Given the description of an element on the screen output the (x, y) to click on. 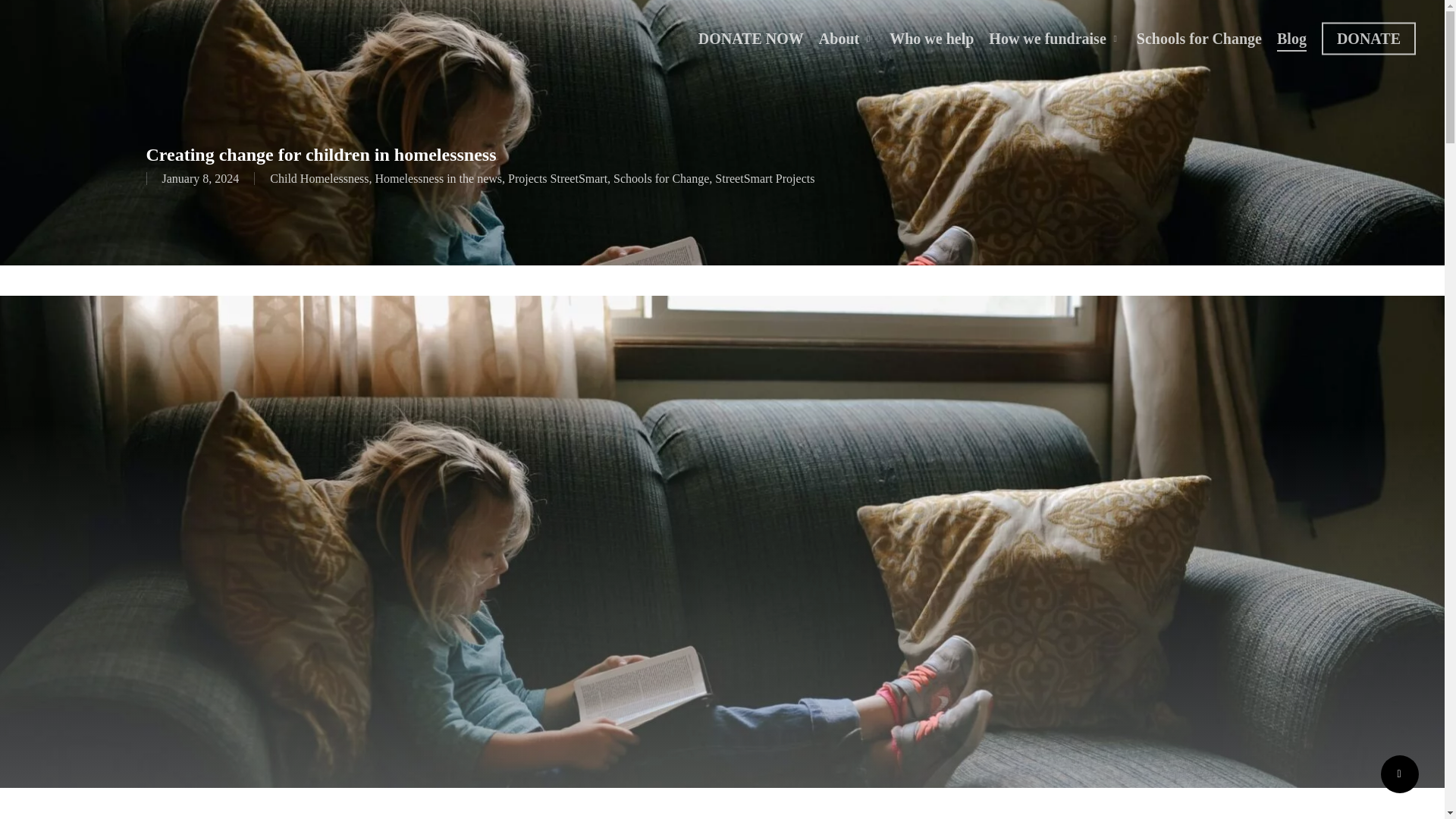
Blog (1291, 37)
Schools for Change (1199, 37)
StreetSmart Projects (763, 178)
DONATE (1368, 37)
Homelessness in the news (438, 178)
DONATE NOW (750, 37)
How we fundraise (1054, 37)
Who we help (931, 37)
Child Homelessness (318, 178)
About (846, 37)
